Given the description of an element on the screen output the (x, y) to click on. 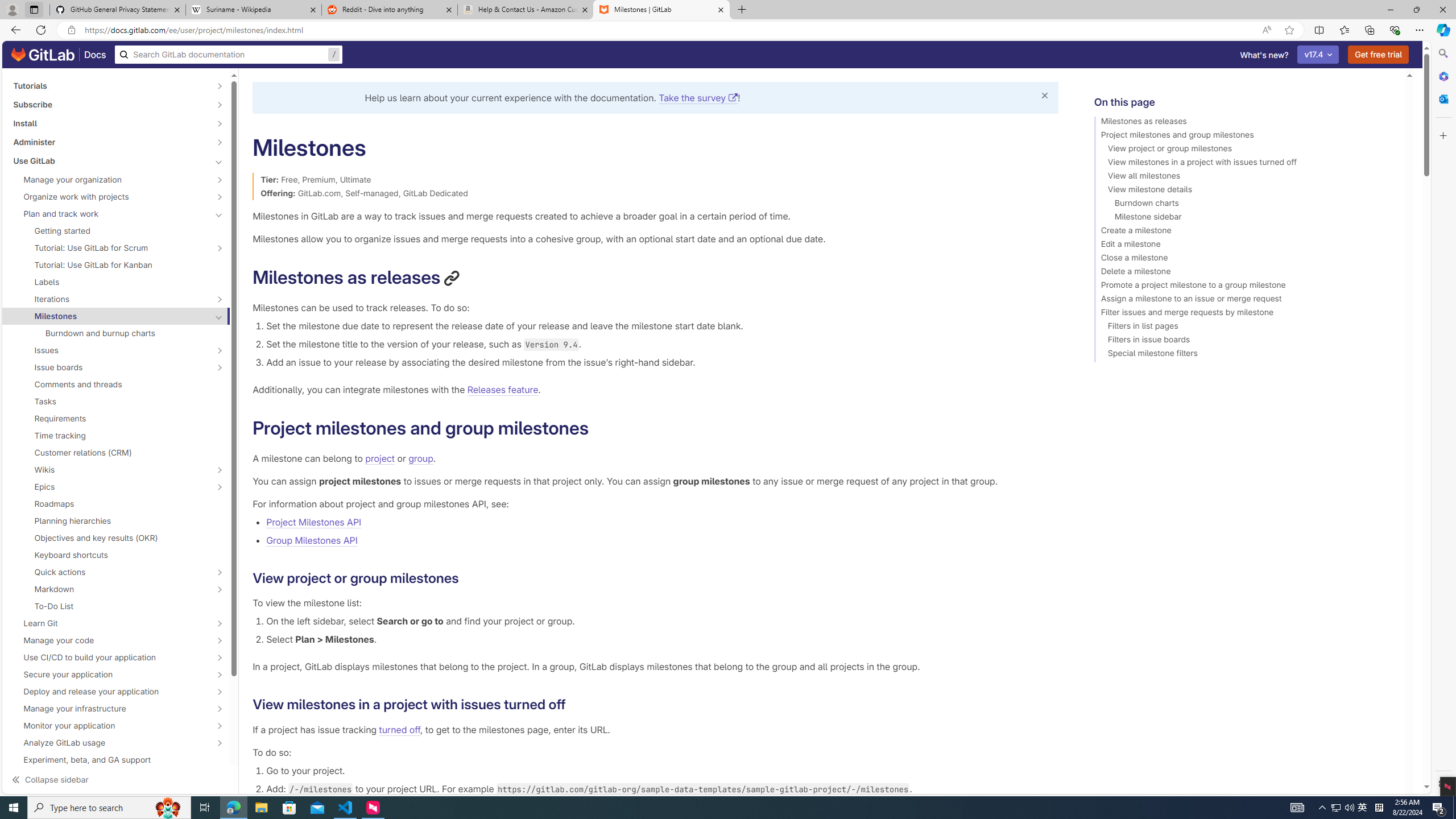
Quick actions (109, 571)
/ (229, 54)
